Given the description of an element on the screen output the (x, y) to click on. 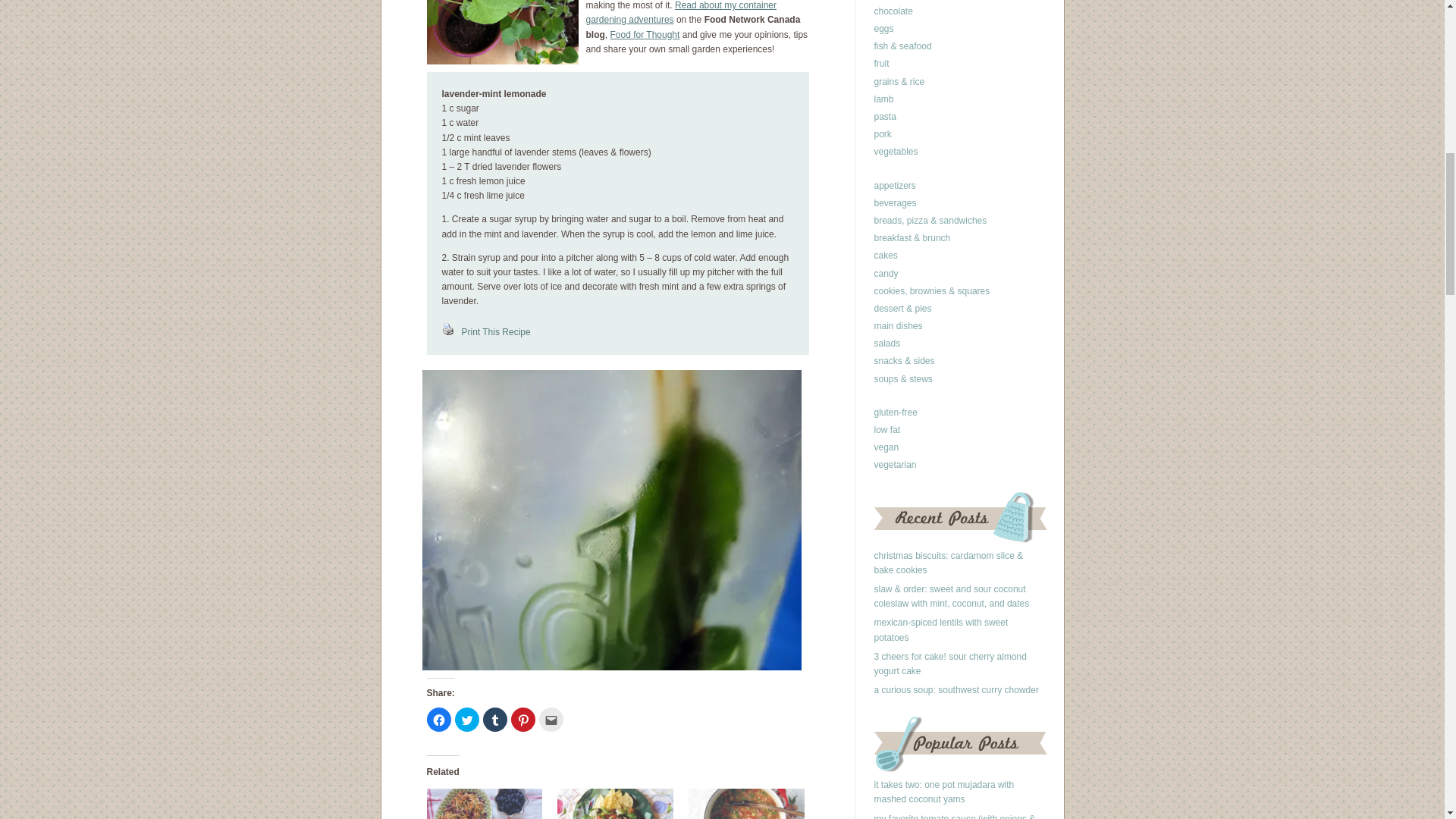
  Print This Recipe (485, 331)
cold sesame noodles on repeat (483, 803)
rainy day soup: red lentil mexican soup (746, 803)
Click to share on Twitter (466, 719)
Click to share on Pinterest (523, 719)
Click to share on Facebook (437, 719)
taco salad, for the summer of my imagination (614, 803)
Read about my container gardening adventures (680, 12)
Click to share on Tumblr (493, 719)
Click to email this to a friend (550, 719)
Food for Thought (644, 34)
